Given the description of an element on the screen output the (x, y) to click on. 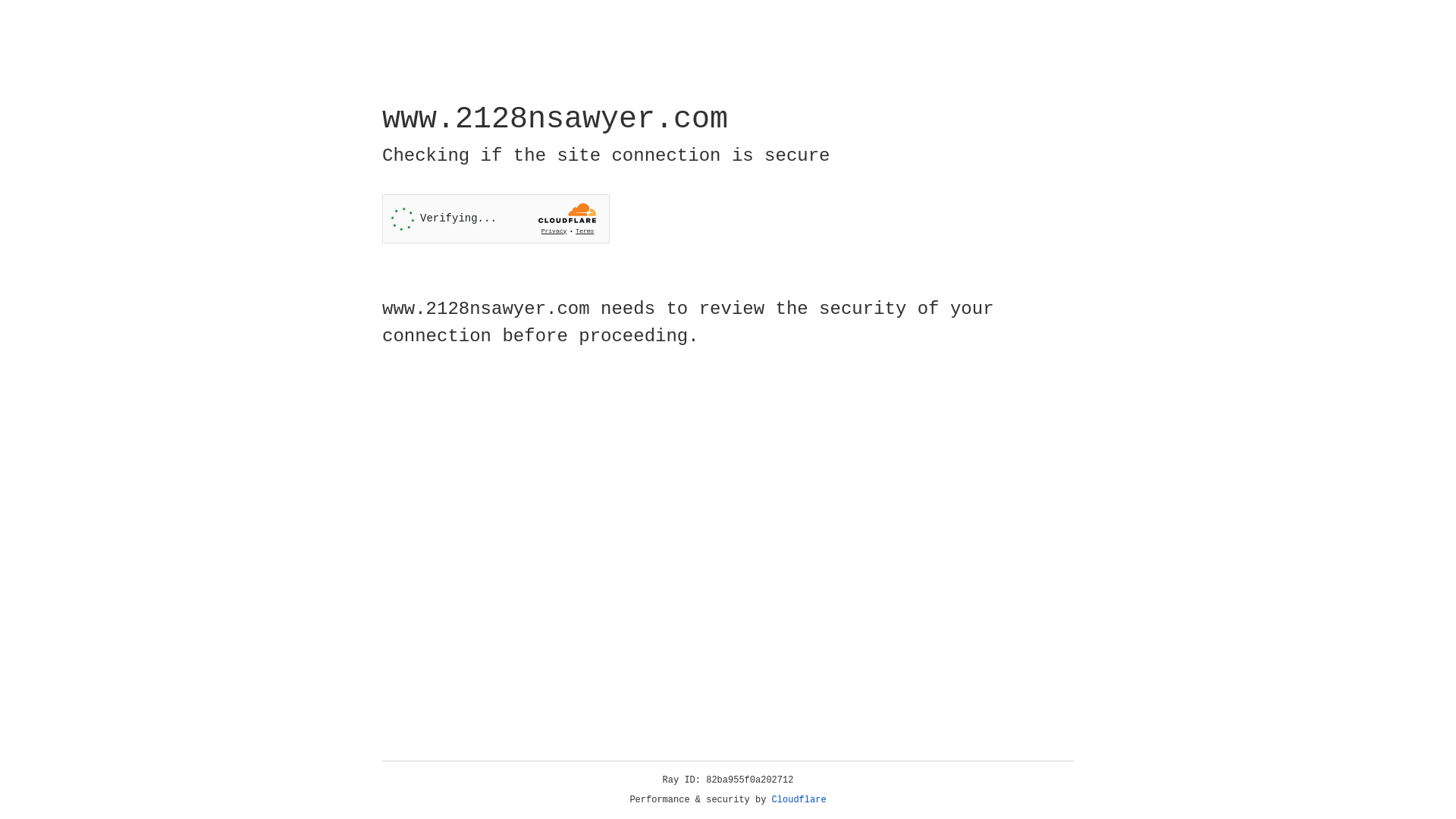
Widget containing a Cloudflare security challenge Element type: hover (495, 218)
Cloudflare Element type: text (798, 799)
